Given the description of an element on the screen output the (x, y) to click on. 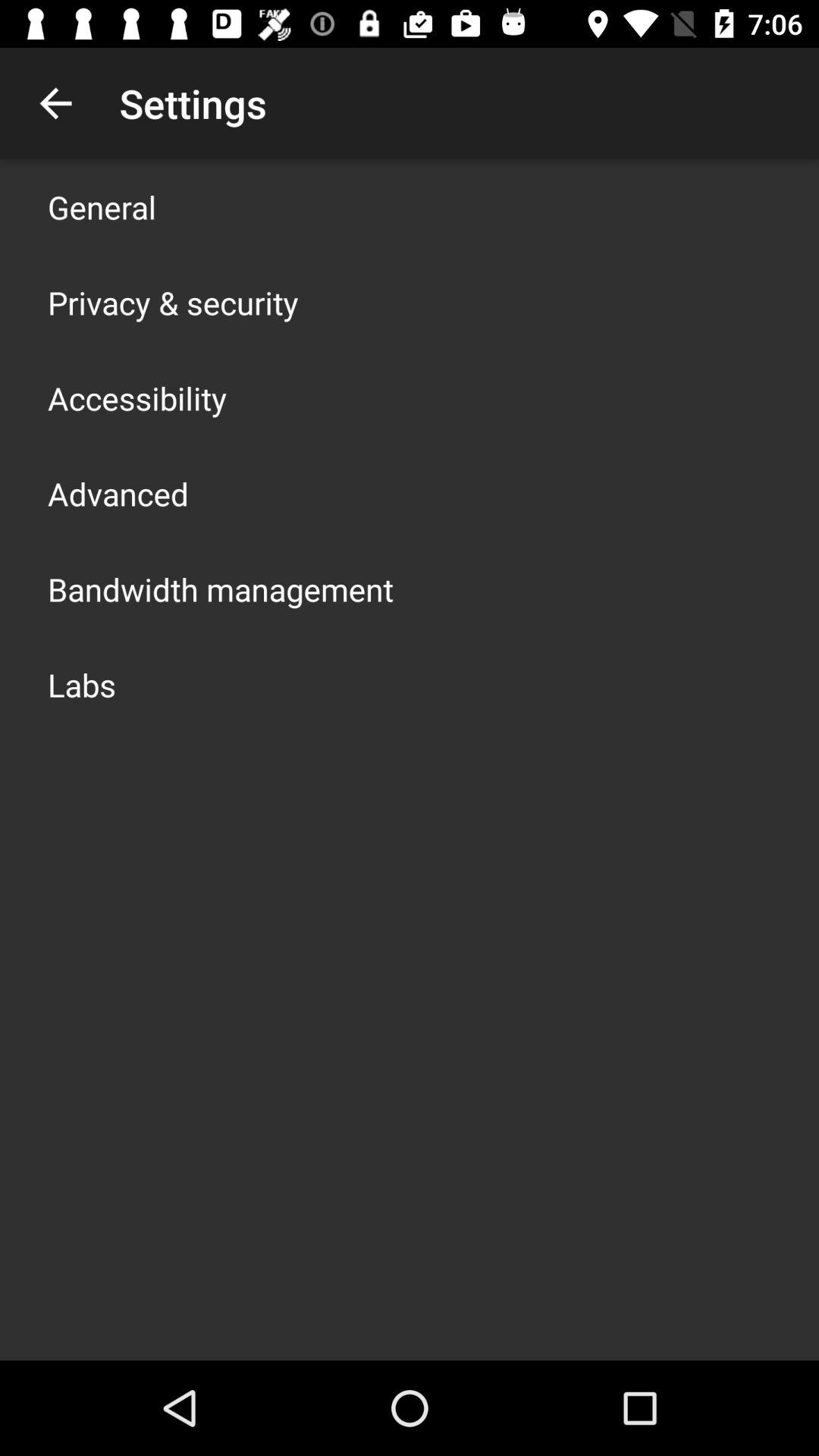
scroll until advanced icon (117, 493)
